Given the description of an element on the screen output the (x, y) to click on. 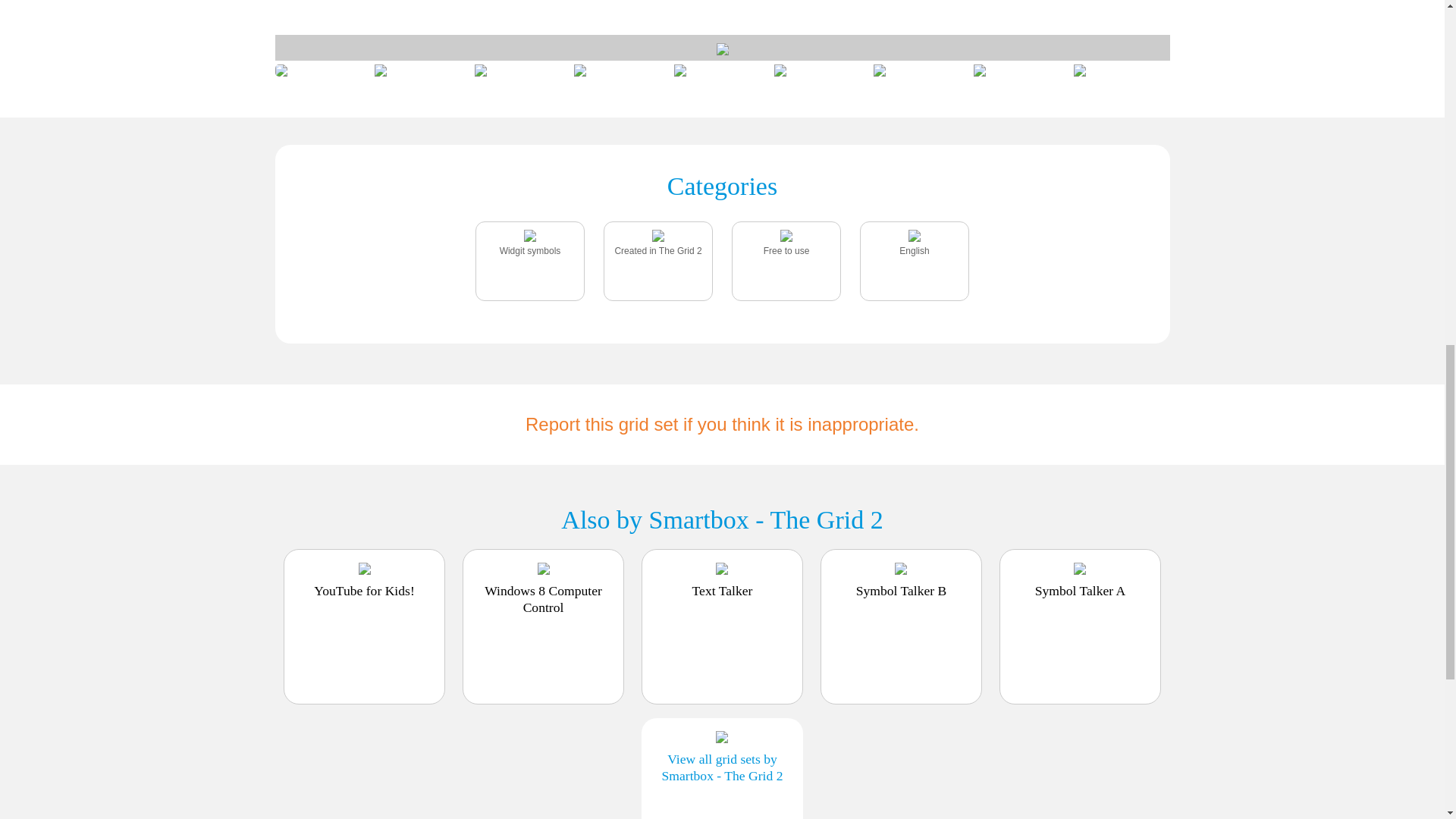
Designed for use with The Grid 2 (657, 249)
Includes Widgit symbols (529, 249)
Grids available to everyone (785, 249)
